Given the description of an element on the screen output the (x, y) to click on. 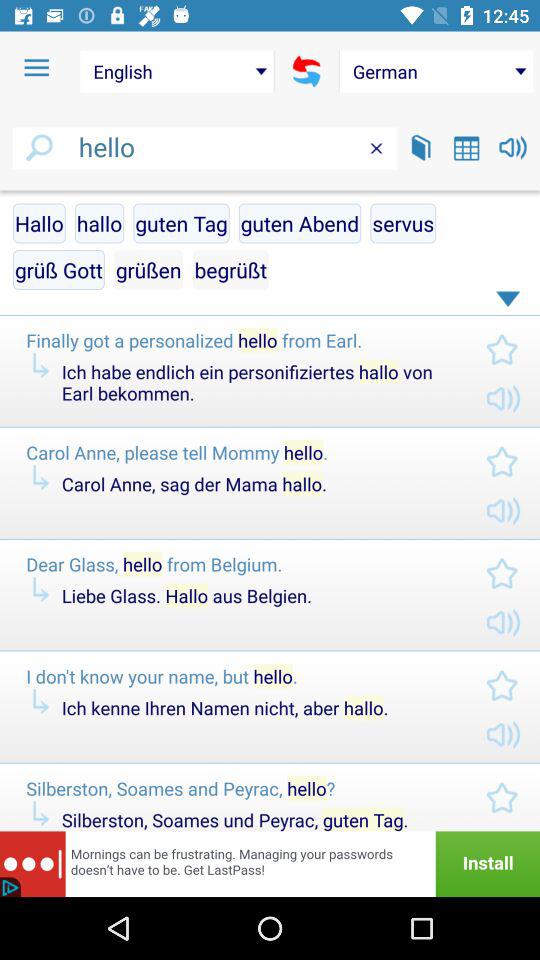
click the item below guten tag item (230, 269)
